Given the description of an element on the screen output the (x, y) to click on. 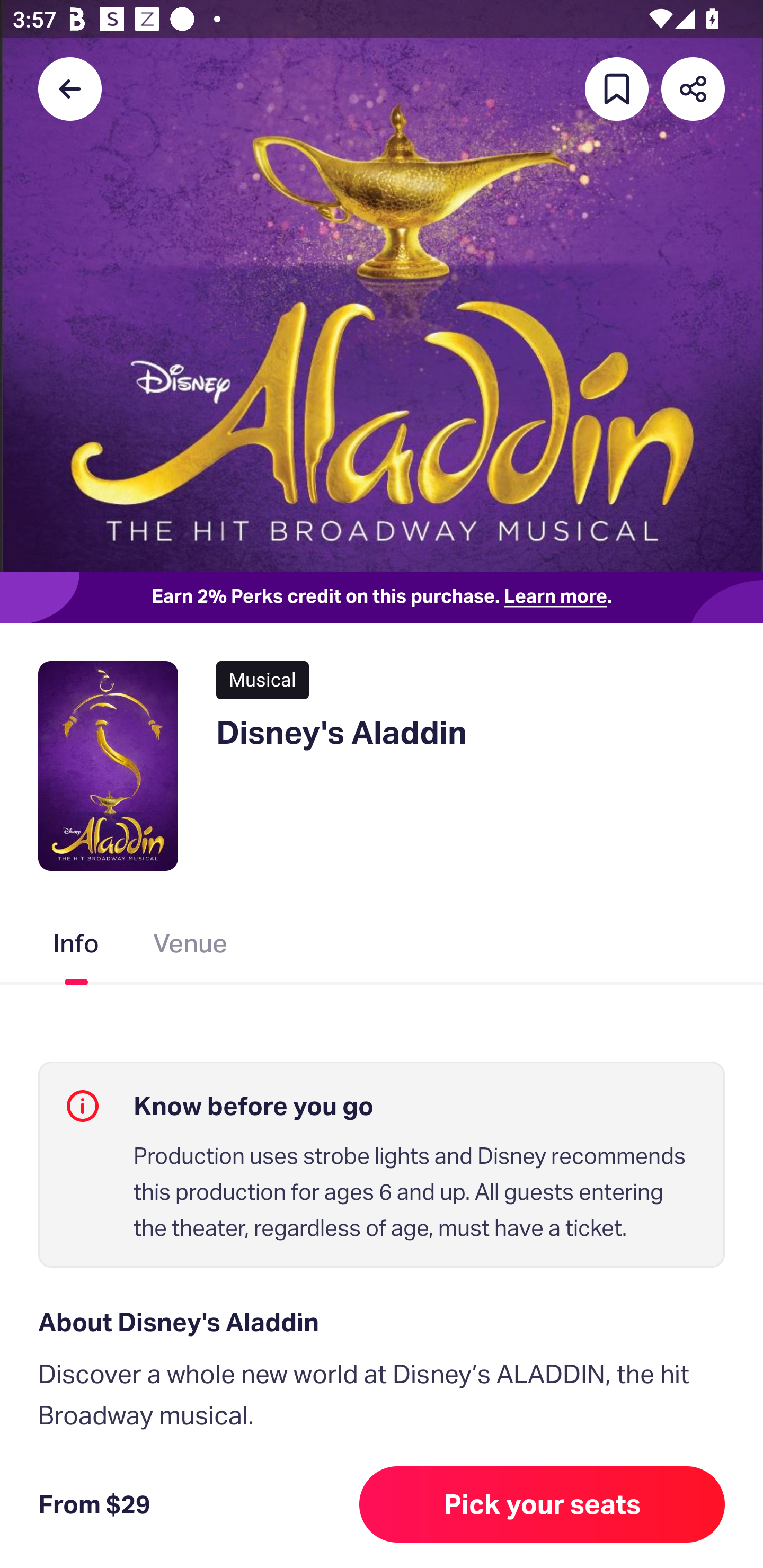
Earn 2% Perks credit on this purchase. Learn more. (381, 597)
Venue (190, 946)
About Disney's Aladdin (381, 1322)
Pick your seats (541, 1504)
